Given the description of an element on the screen output the (x, y) to click on. 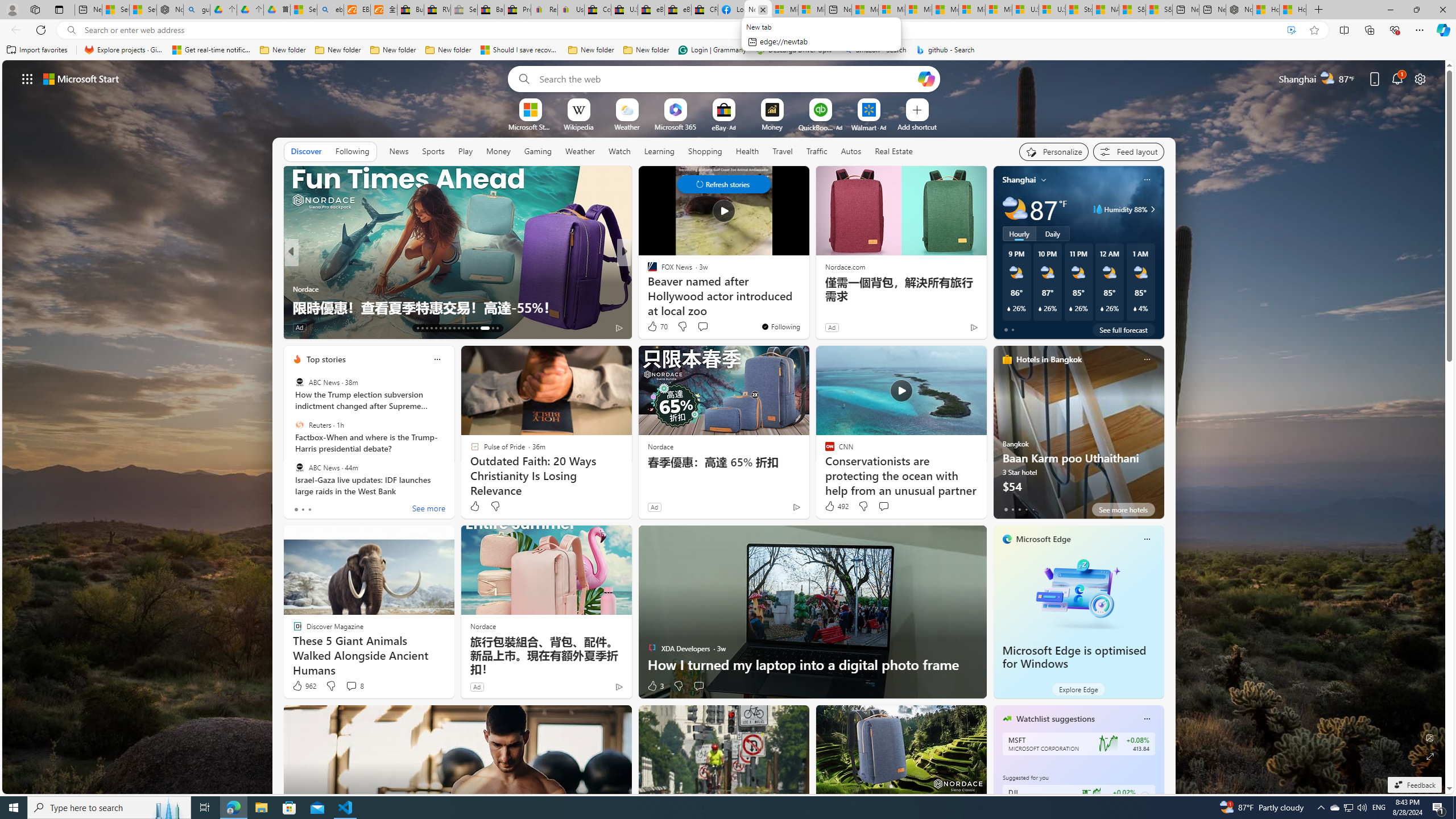
Log into Facebook (731, 9)
Daily (1052, 233)
Health (746, 151)
BRAINY DOSE (647, 270)
AutomationID: tab-34 (492, 328)
Microsoft Edge (1043, 538)
70 Like (657, 326)
Watch (619, 151)
View comments 24 Comment (6, 327)
Page settings (1420, 78)
